Given the description of an element on the screen output the (x, y) to click on. 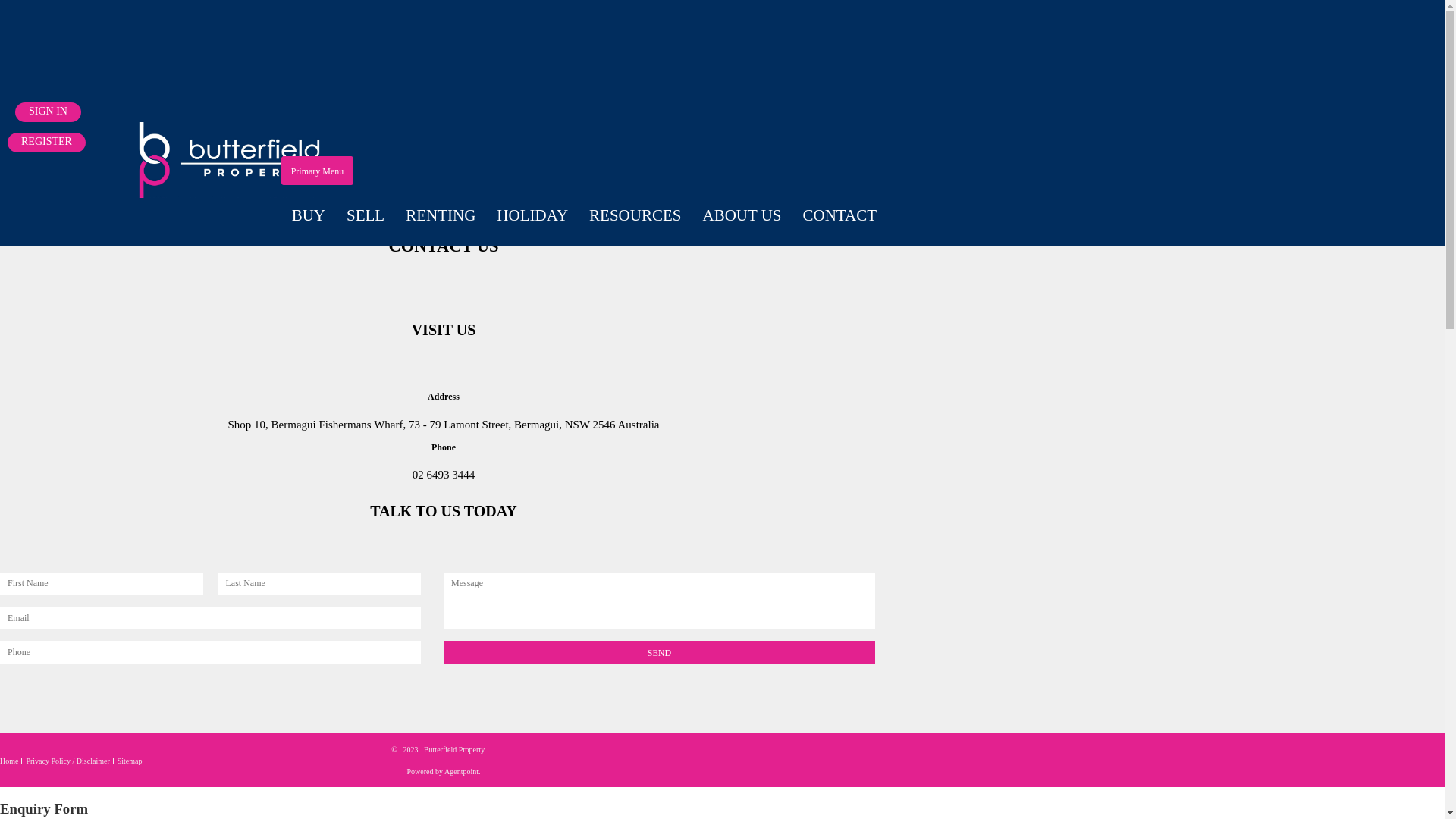
BUY Element type: text (308, 215)
SEND Element type: text (659, 651)
SIGN IN Element type: text (48, 112)
Privacy Policy / Disclaimer Element type: text (67, 760)
RENTING Element type: text (440, 215)
RESOURCES Element type: text (634, 215)
Primary Menu Element type: text (317, 170)
02 6493 3444 Element type: text (443, 474)
REGISTER Element type: text (46, 142)
Home Element type: text (9, 760)
SELL Element type: text (365, 215)
ABOUT US Element type: text (741, 215)
Agentpoint Element type: text (461, 771)
Sitemap Element type: text (129, 760)
HOLIDAY Element type: text (532, 215)
CONTACT Element type: text (839, 215)
